Given the description of an element on the screen output the (x, y) to click on. 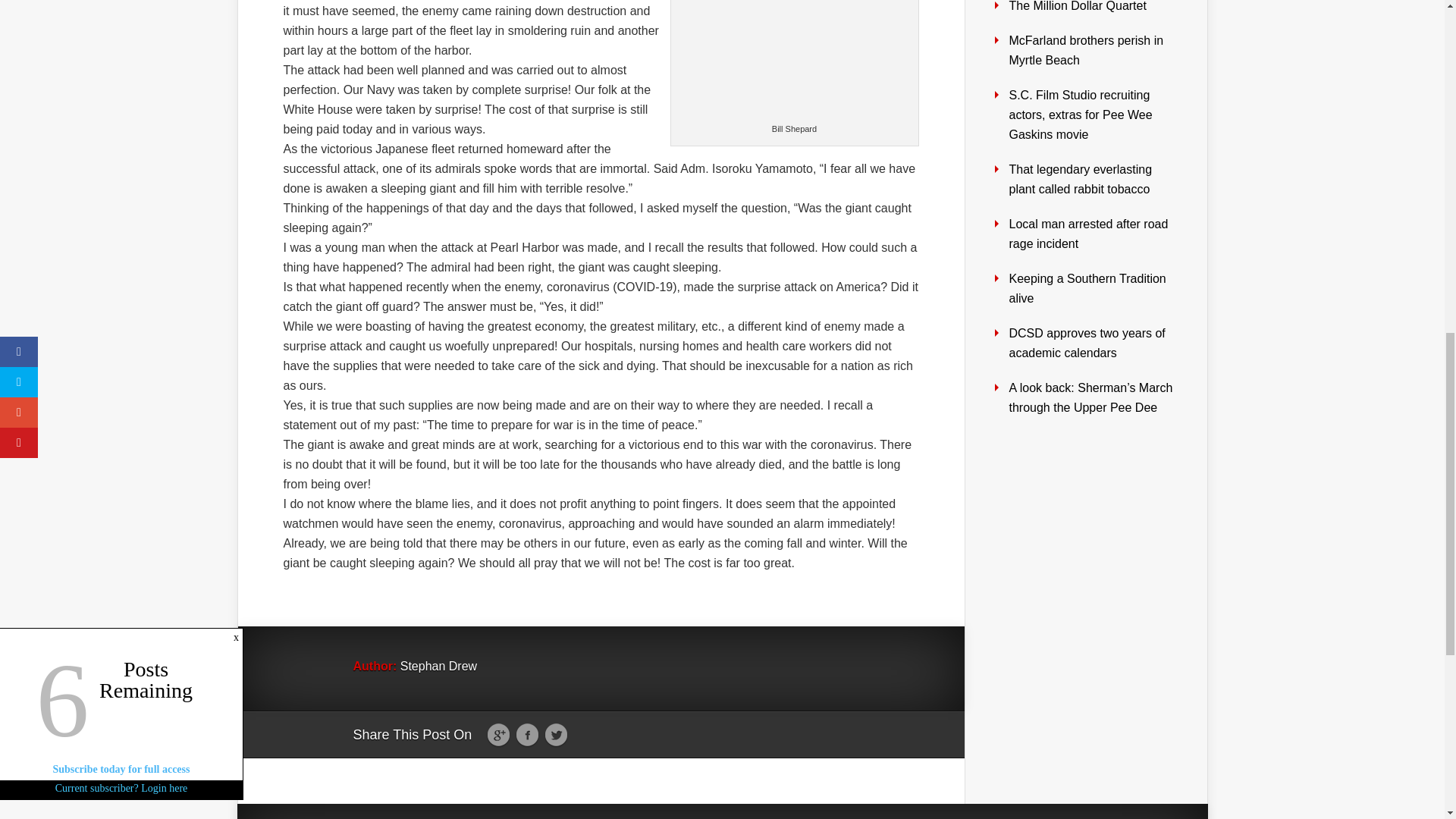
That legendary everlasting plant called rabbit tobacco (1080, 178)
Local man arrested after road rage incident (1088, 233)
The Million Dollar Quartet (1077, 6)
Google (498, 735)
Facebook (526, 735)
McFarland brothers perish in Myrtle Beach (1086, 50)
Twitter (555, 735)
